Given the description of an element on the screen output the (x, y) to click on. 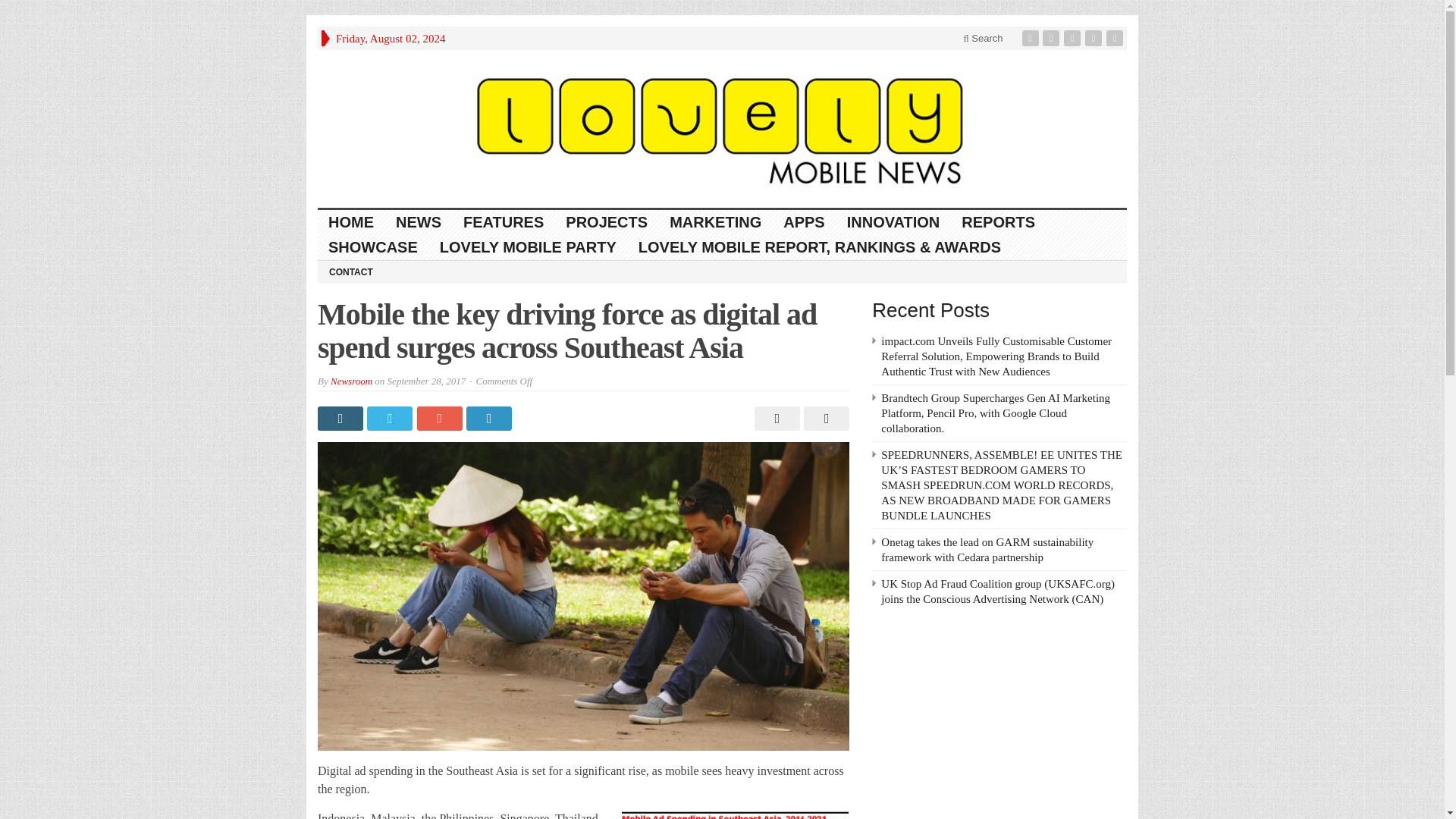
Facebook (1032, 37)
Search (982, 37)
Lovely Mobile News (721, 128)
APPS (804, 222)
MARKETING (716, 222)
Newsroom (351, 380)
HOME (351, 222)
LinkedIn (1073, 37)
NEWS (418, 222)
LOVELY MOBILE PARTY (528, 247)
Twitter (1052, 37)
Site feed (1115, 37)
FEATURES (503, 222)
Print This Post (775, 418)
Subscribe by Email (1094, 37)
